Given the description of an element on the screen output the (x, y) to click on. 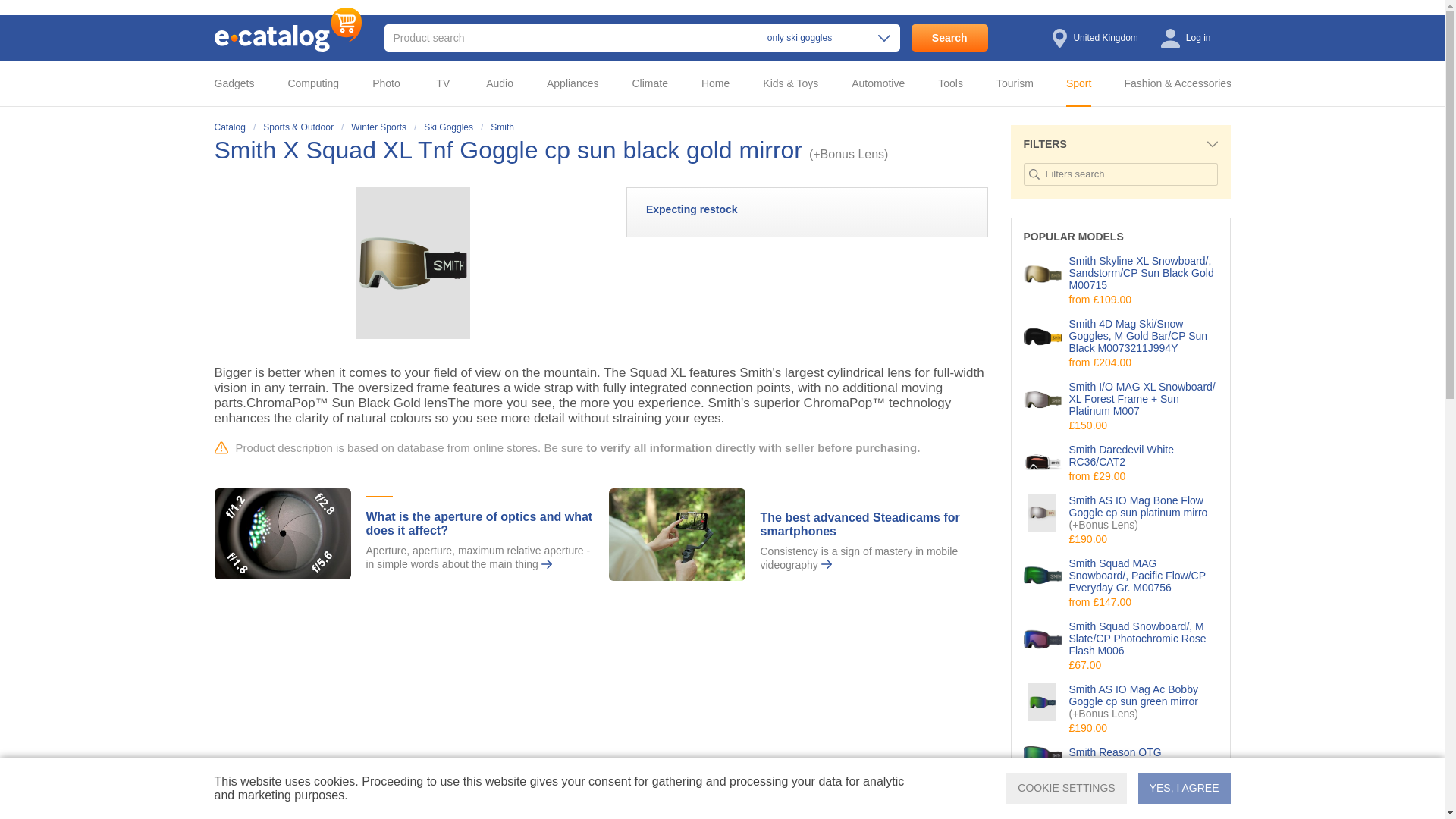
Share Page (972, 150)
Photo (391, 83)
E-Catalog (287, 29)
Search (949, 37)
Computing (318, 83)
Gadgets (245, 83)
 TV  (448, 83)
